Given the description of an element on the screen output the (x, y) to click on. 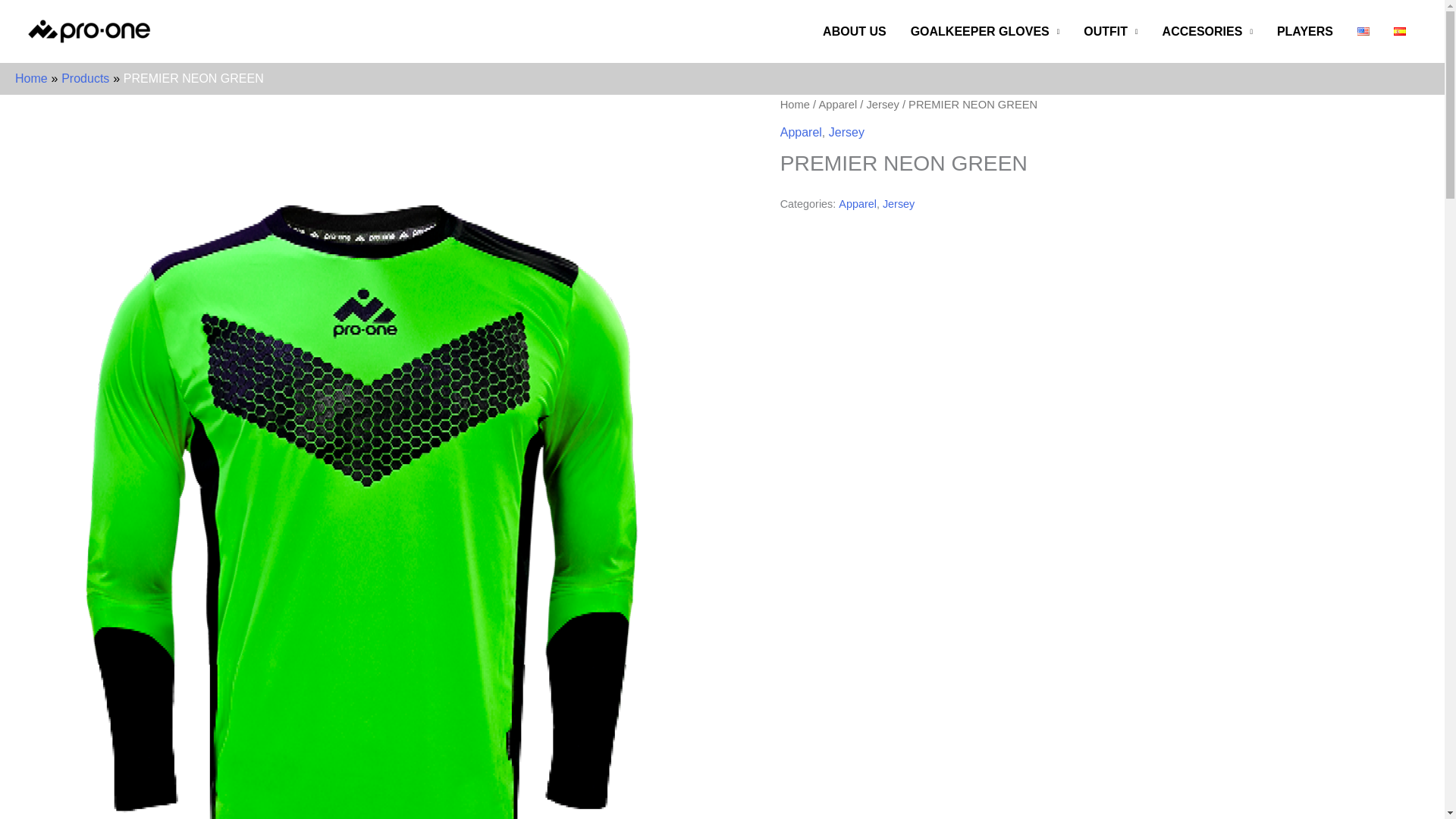
GOALKEEPER GLOVES (984, 30)
ACCESORIES (1207, 30)
OUTFIT (1110, 30)
PLAYERS (1305, 30)
ABOUT US (854, 30)
